Given the description of an element on the screen output the (x, y) to click on. 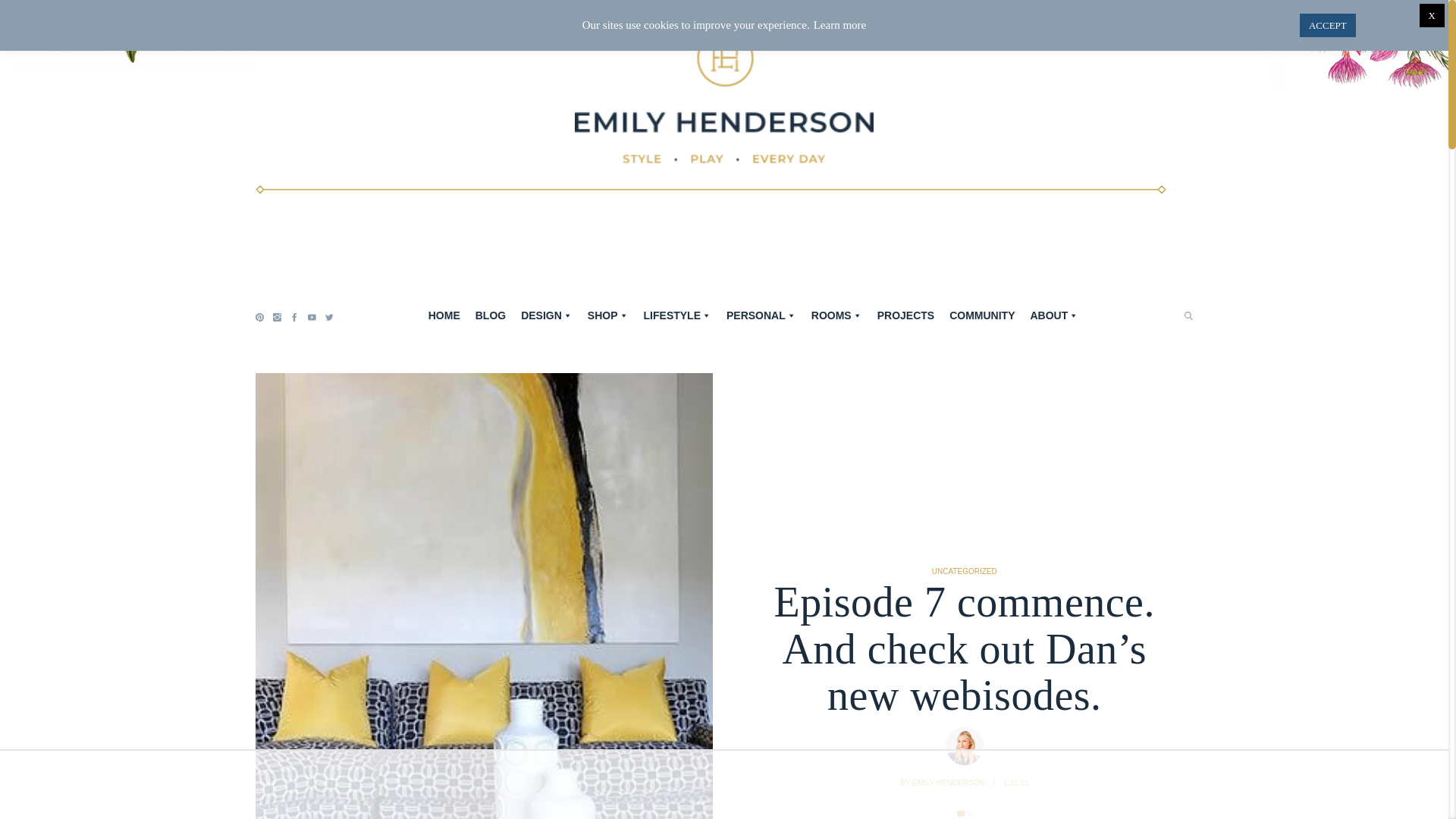
ROOMS (836, 315)
LIFESTYLE (677, 315)
BLOG (490, 315)
DESIGN (546, 315)
HOME (443, 315)
SHOP (607, 315)
PERSONAL (761, 315)
